Given the description of an element on the screen output the (x, y) to click on. 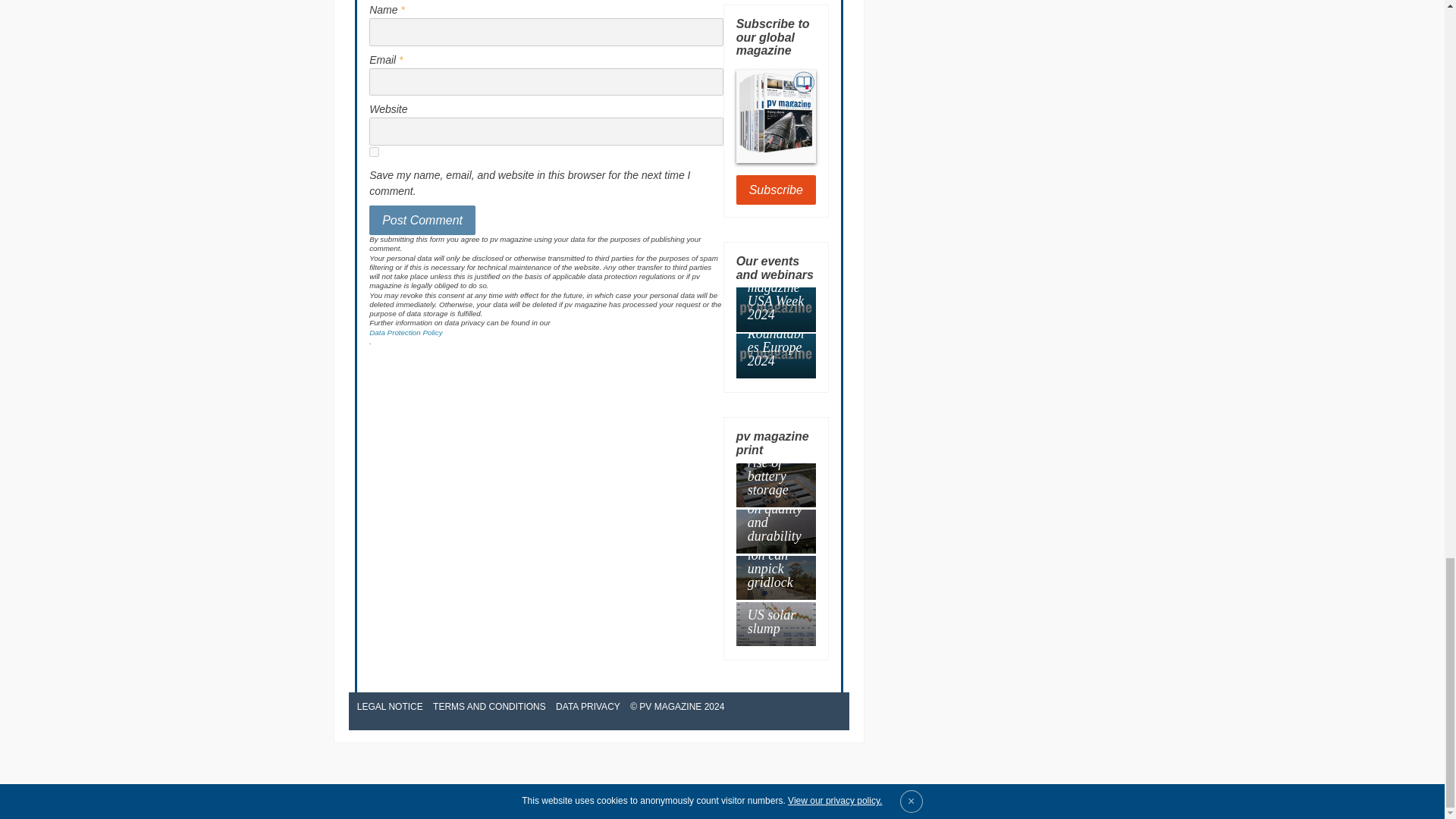
yes (373, 152)
Post Comment (422, 220)
